Given the description of an element on the screen output the (x, y) to click on. 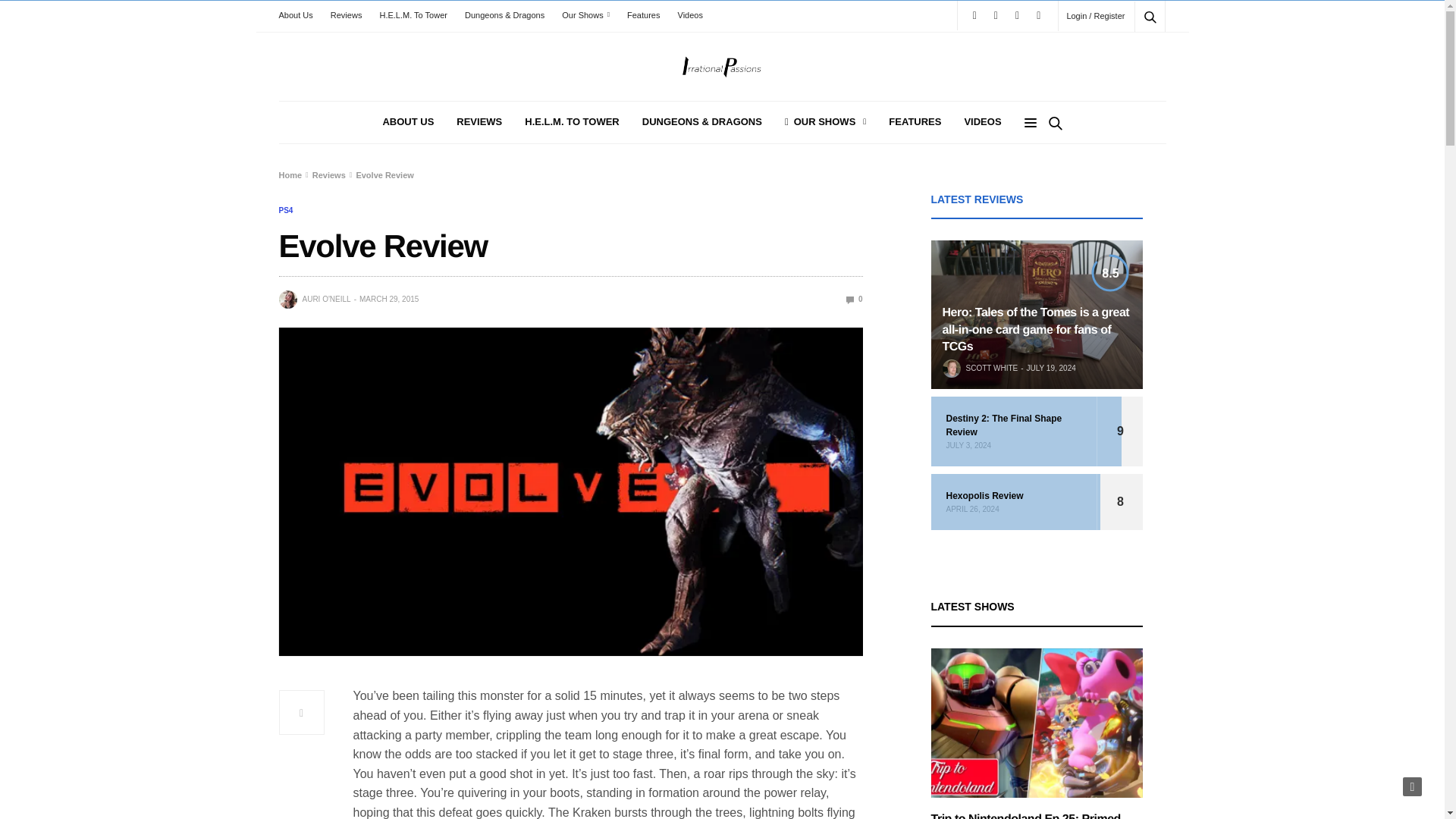
Reviews (346, 15)
Evolve Review (853, 298)
H.E.L.M. To Tower (412, 15)
Hexopolis Review (1014, 495)
FEATURES (914, 122)
Posts by Scott White (991, 368)
PS4 (286, 210)
ABOUT US (407, 122)
Videos (689, 15)
About Us (299, 15)
Our Shows (585, 15)
OUR SHOWS (825, 122)
Trip to Nintendoland Ep.25: Primed and Ready (1026, 816)
